Given the description of an element on the screen output the (x, y) to click on. 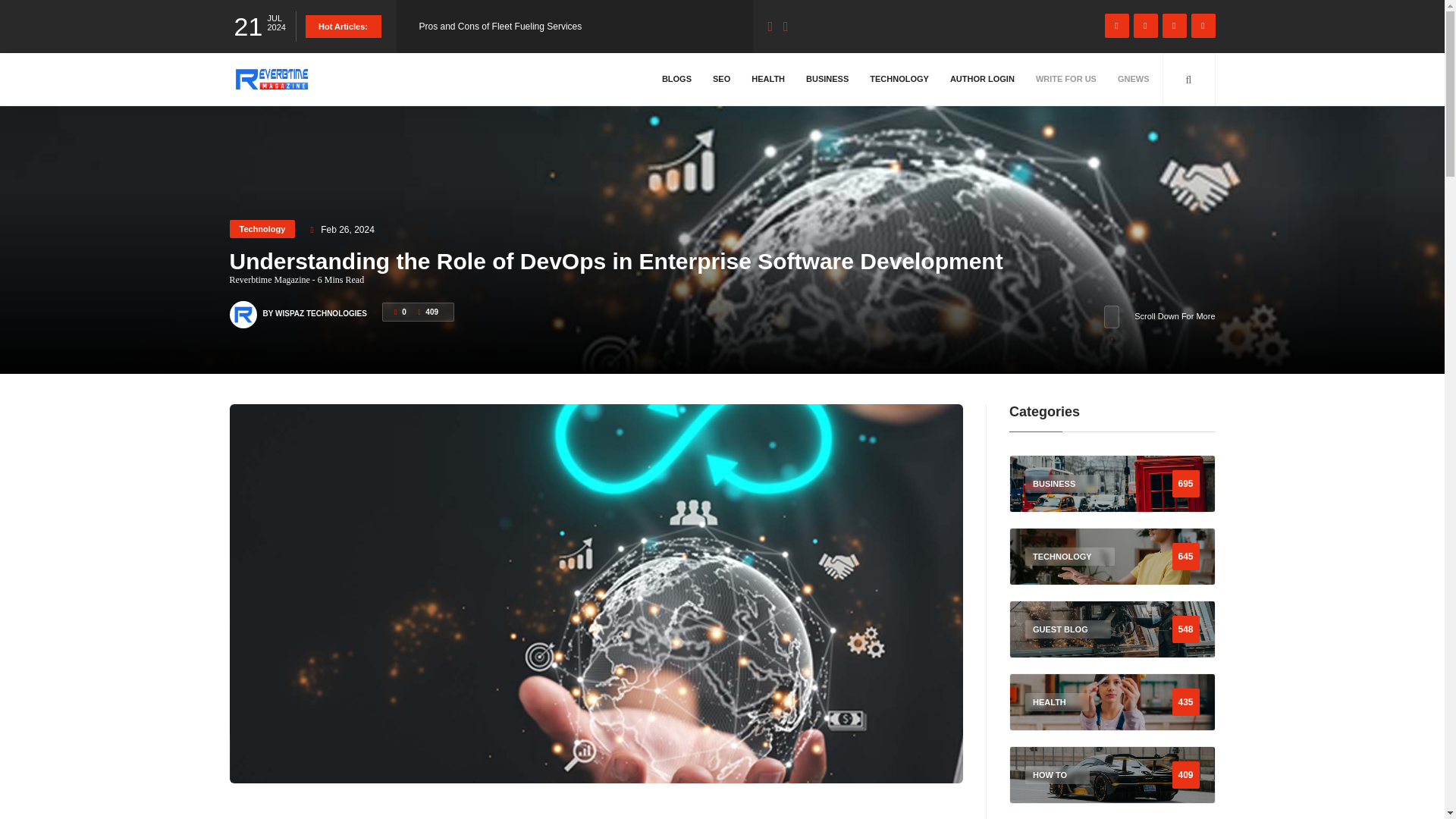
HEALTH (767, 79)
TECHNOLOGY (899, 79)
BUSINESS (827, 79)
BY WISPAZ TECHNOLOGIES (314, 306)
Scroll Down For More (1158, 316)
Technology (261, 229)
SEO (721, 79)
WRITE FOR US (1066, 79)
Pros and Cons of Fleet Fueling Services (499, 26)
GNEWS (1133, 79)
BLOGS (676, 79)
AUTHOR LOGIN (982, 79)
